Given the description of an element on the screen output the (x, y) to click on. 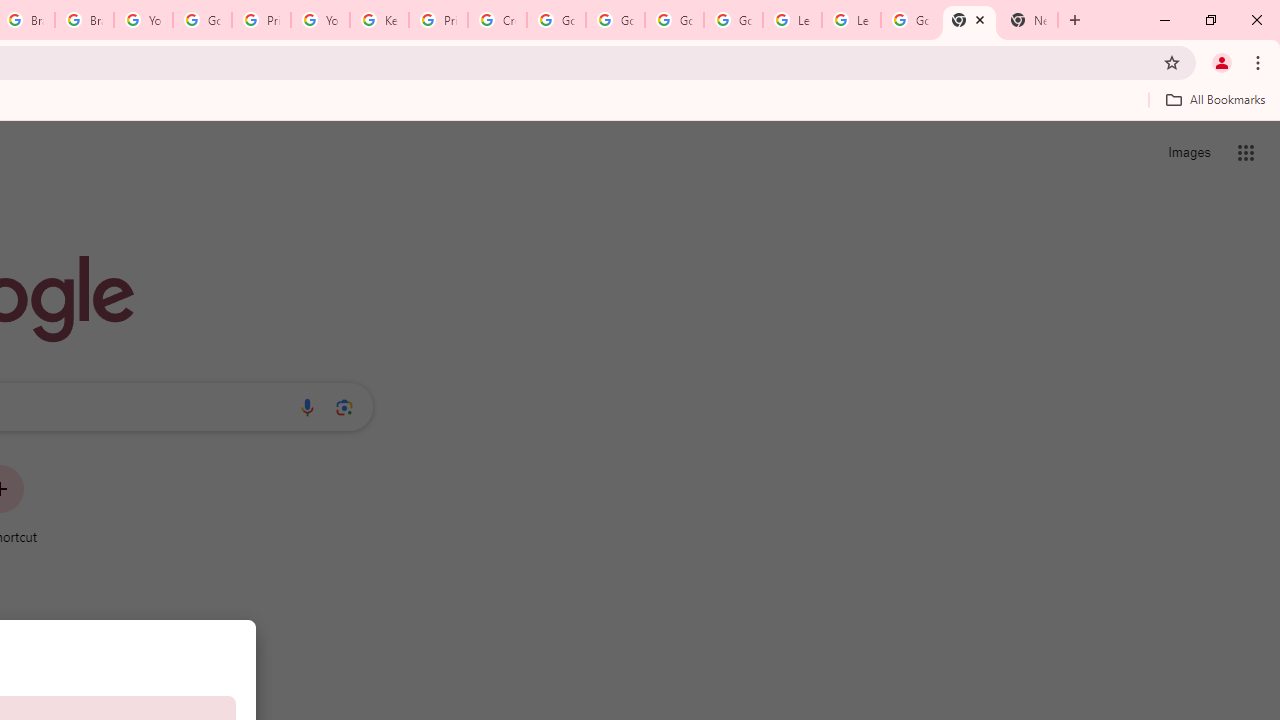
Google Account Help (674, 20)
Google Account Help (201, 20)
Google Account Help (733, 20)
New Tab (969, 20)
YouTube (142, 20)
Create your Google Account (497, 20)
Google Account Help (615, 20)
Google Account (909, 20)
